Given the description of an element on the screen output the (x, y) to click on. 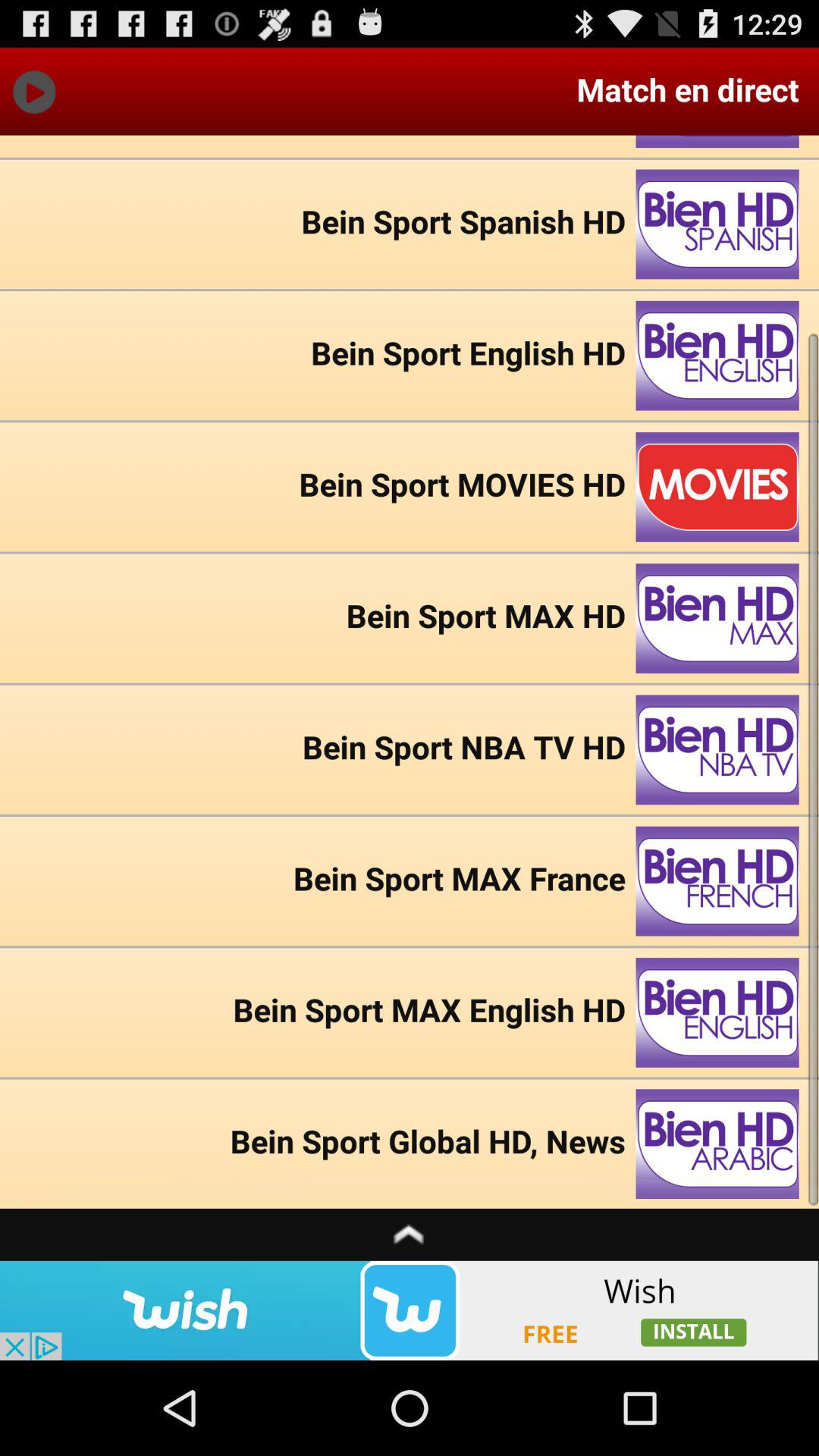
play (33, 91)
